Given the description of an element on the screen output the (x, y) to click on. 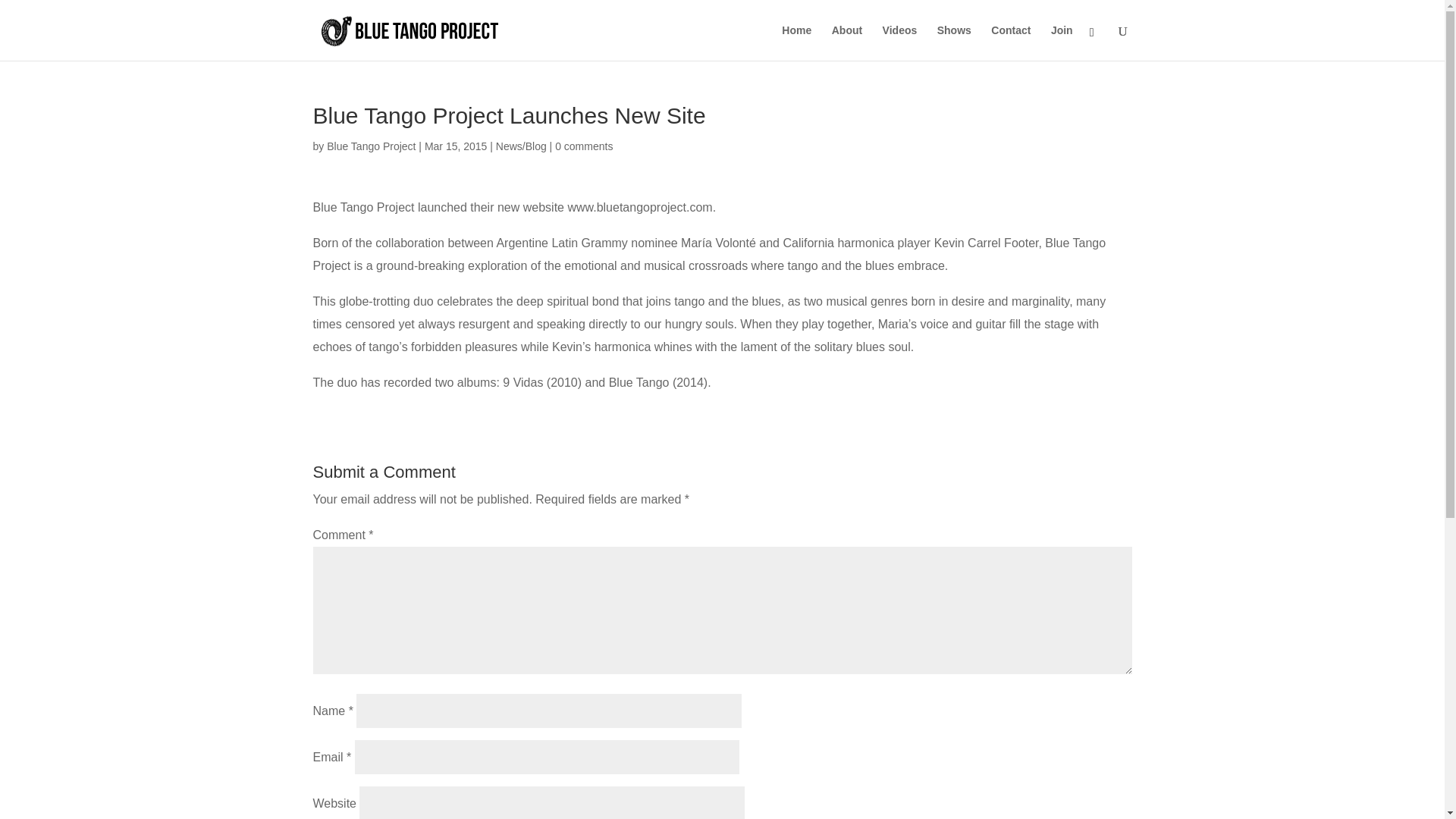
Videos (899, 42)
Blue Tango Project (370, 146)
Contact (1010, 42)
Posts by Blue Tango Project (370, 146)
Shows (954, 42)
0 comments (583, 146)
